Given the description of an element on the screen output the (x, y) to click on. 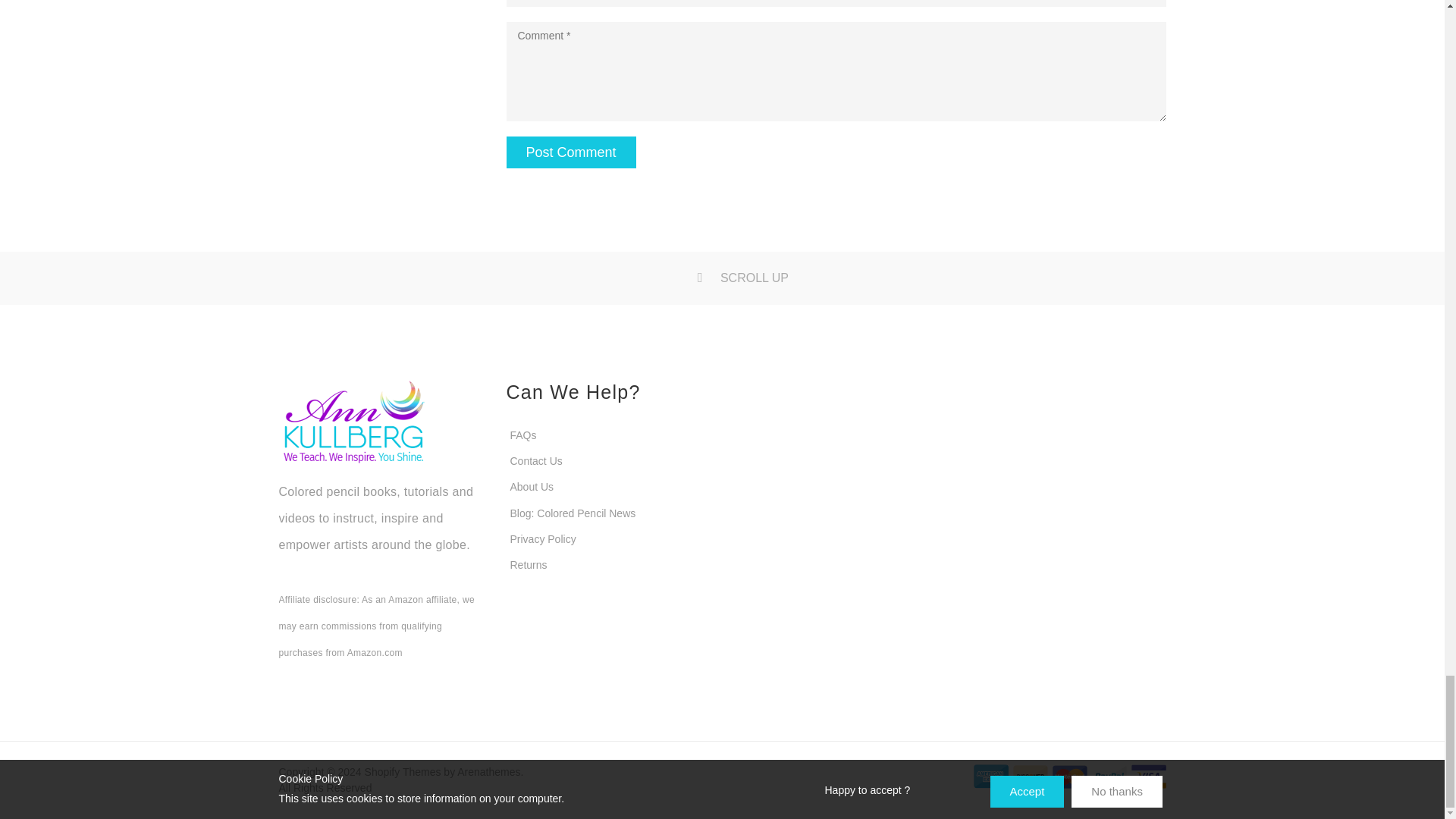
SCROLL UP (722, 277)
